Given the description of an element on the screen output the (x, y) to click on. 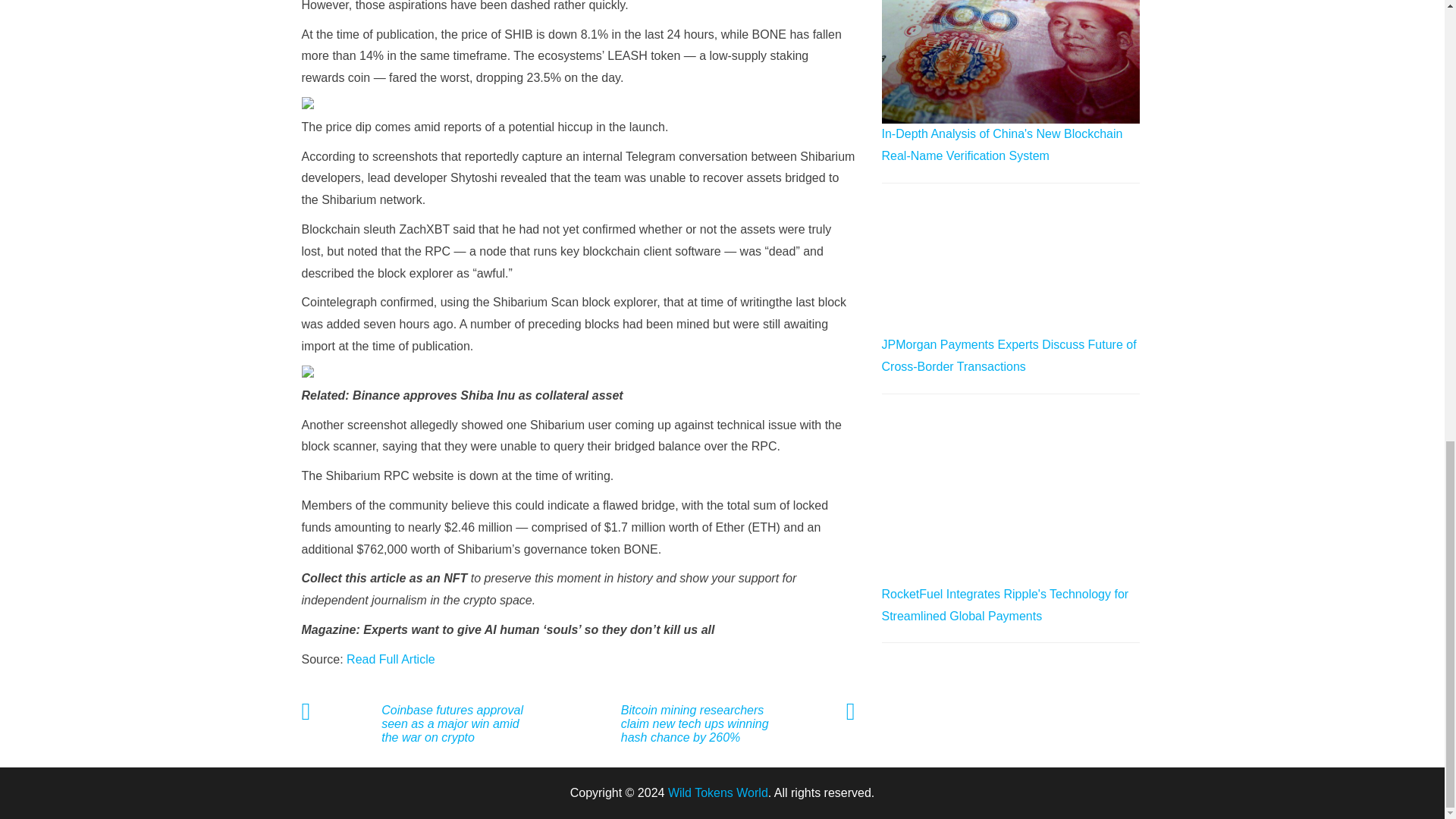
Read Full Article (390, 658)
Wild Tokens World (718, 792)
